Given the description of an element on the screen output the (x, y) to click on. 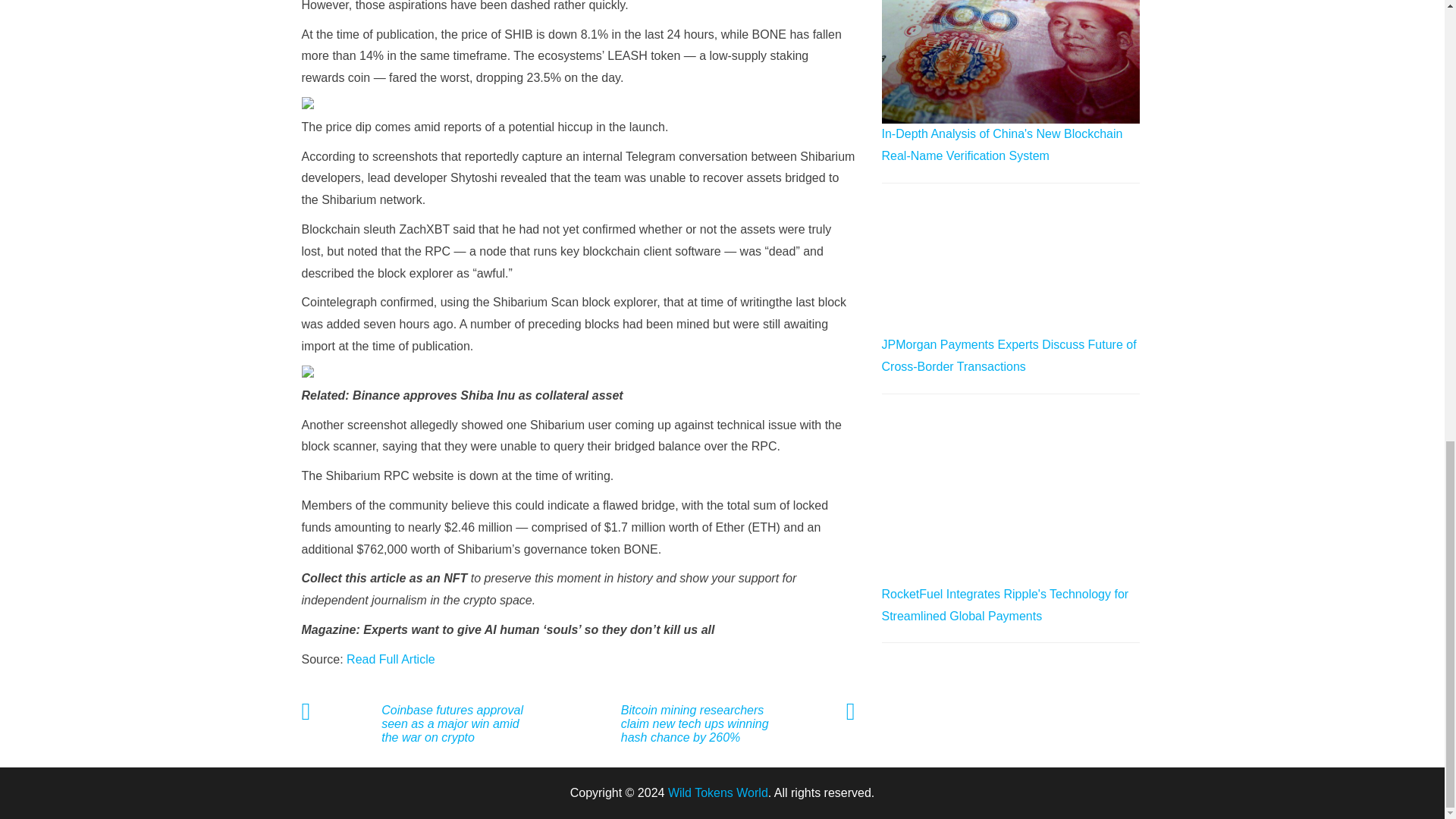
Read Full Article (390, 658)
Wild Tokens World (718, 792)
